Given the description of an element on the screen output the (x, y) to click on. 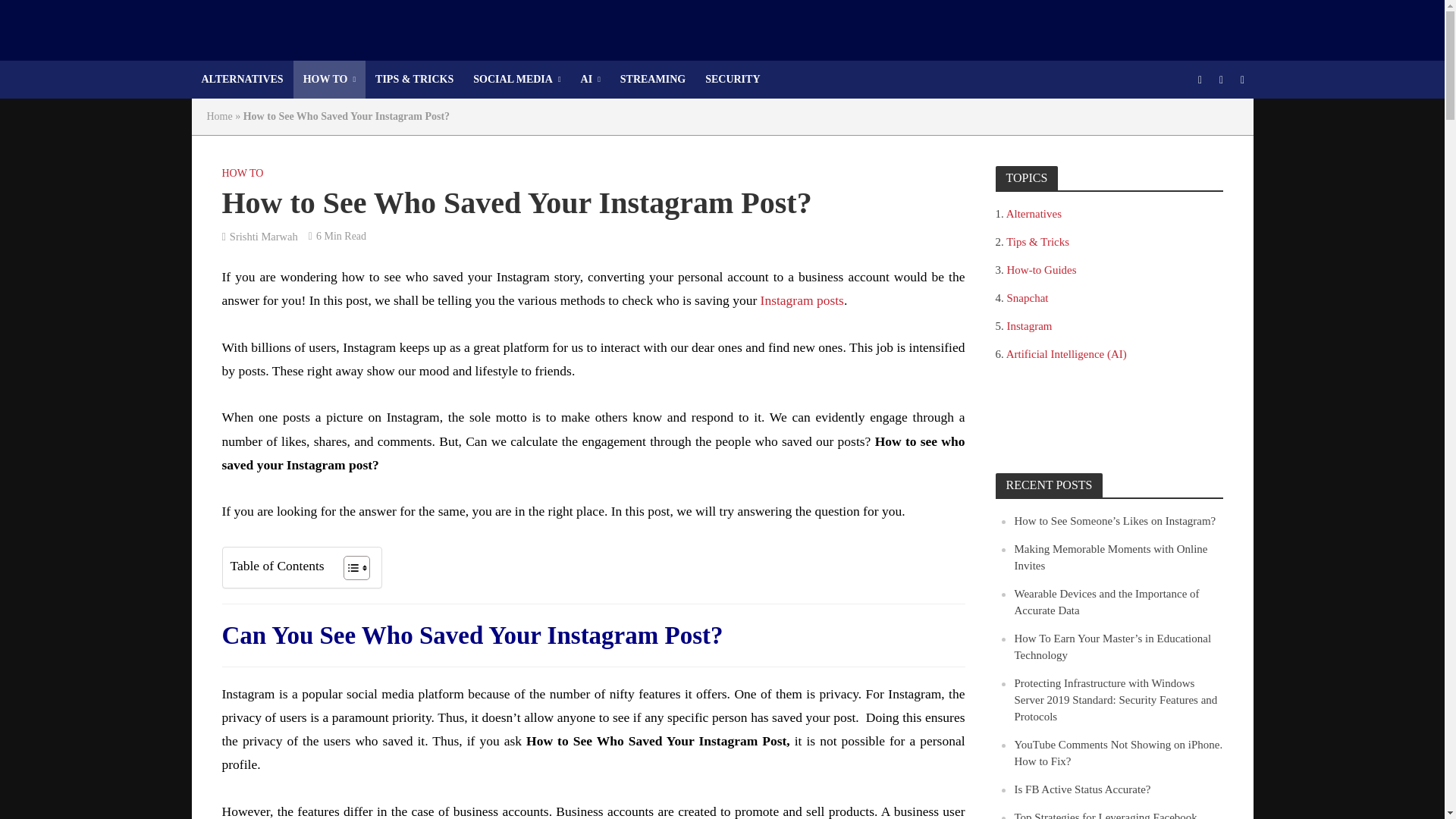
AI (590, 79)
Instagram posts (802, 301)
HOW TO (242, 175)
SOCIAL MEDIA (516, 79)
SECURITY (732, 79)
ALTERNATIVES (241, 79)
Srishti Marwah (264, 237)
HOW TO (329, 79)
STREAMING (652, 79)
Home (218, 116)
